Given the description of an element on the screen output the (x, y) to click on. 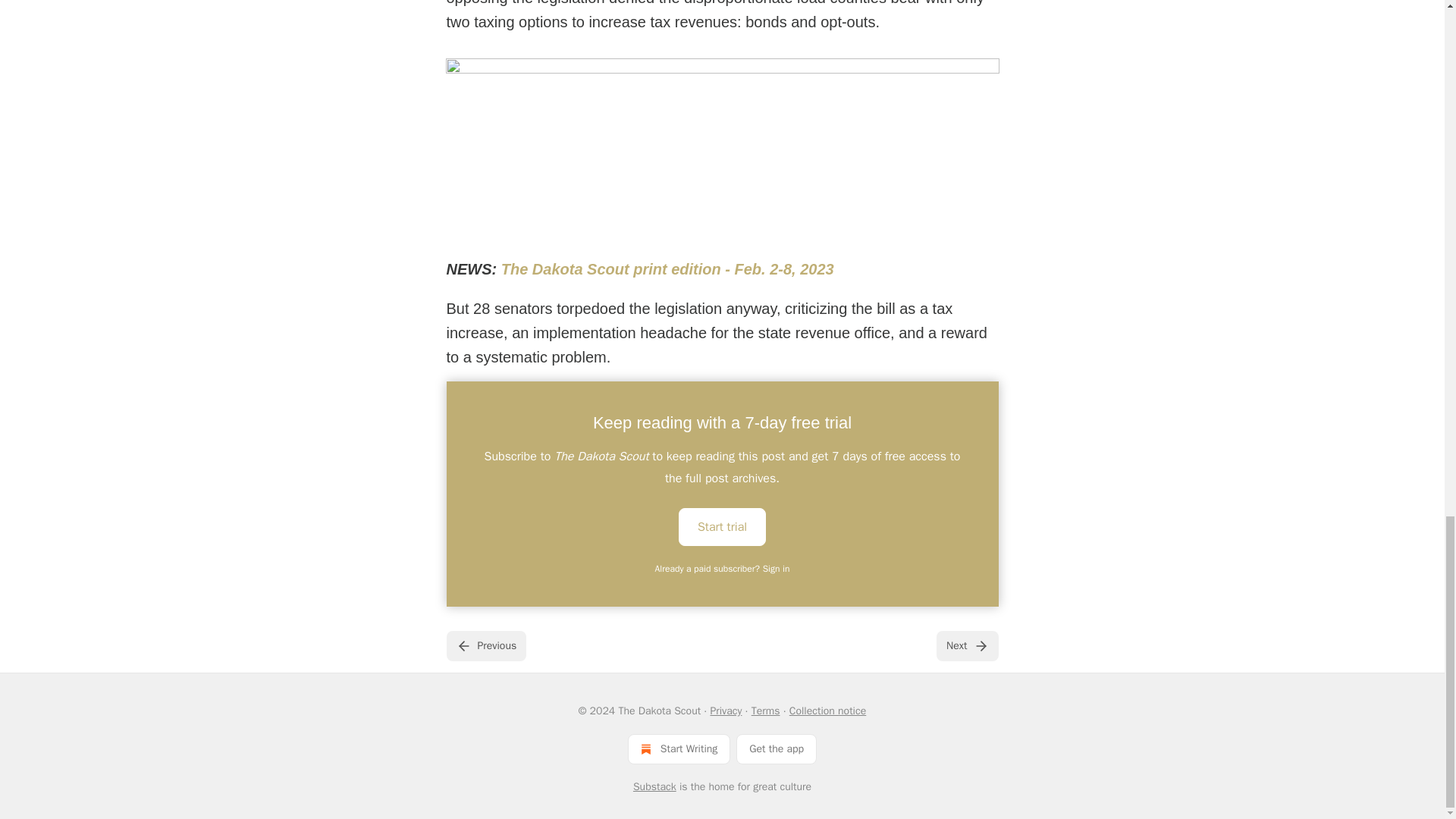
Next (966, 645)
Already a paid subscriber? Sign in (722, 568)
Privacy (725, 710)
Terms (765, 710)
Substack (655, 786)
Collection notice (827, 710)
Start Writing (678, 748)
Get the app (776, 748)
Start trial (721, 525)
Start trial (721, 526)
The Dakota Scout print edition - Feb. 2-8, 2023 (667, 269)
Previous (485, 645)
